Given the description of an element on the screen output the (x, y) to click on. 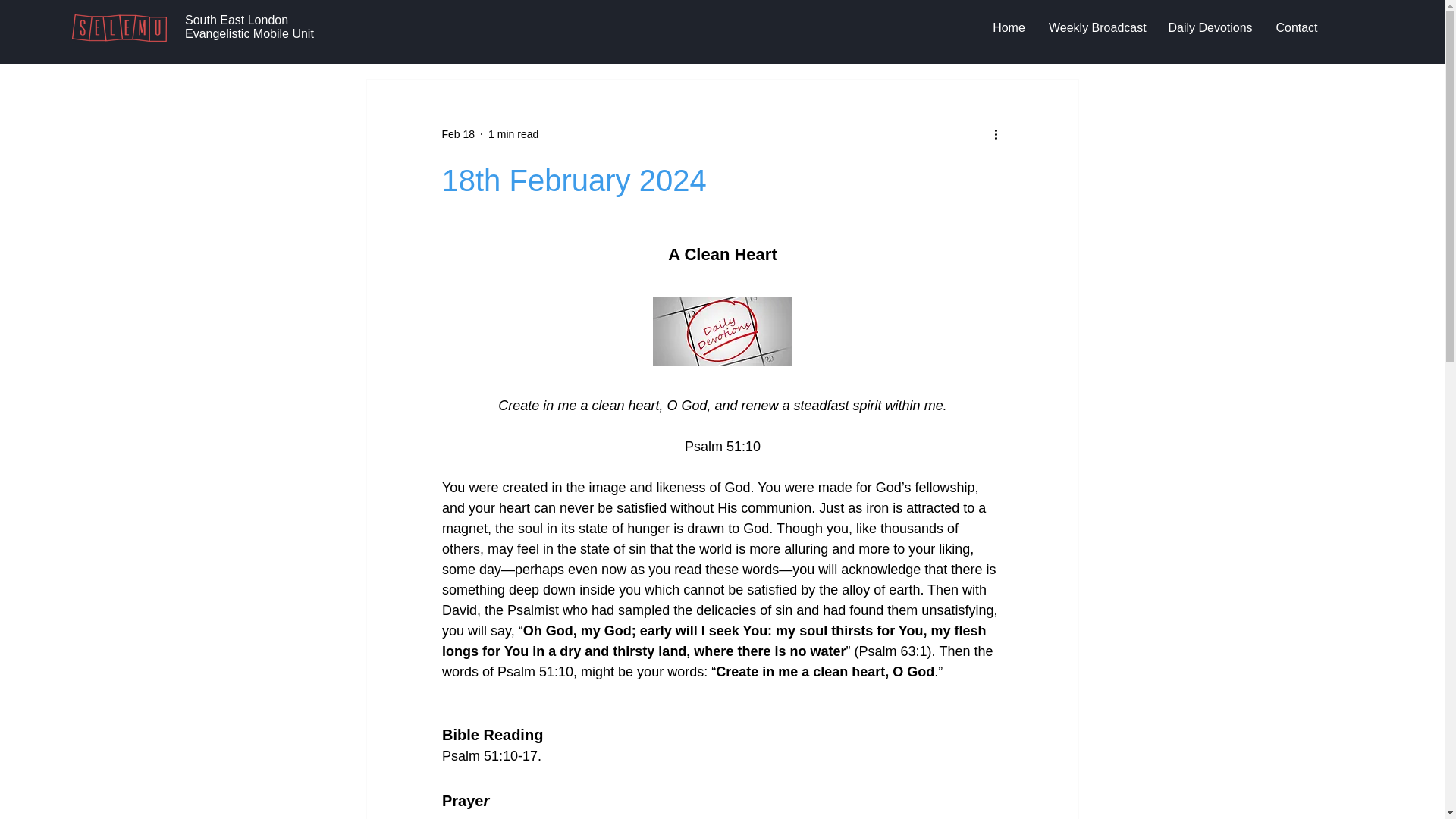
Weekly Broadcast (1096, 27)
Daily Devotions (1209, 27)
Home (1007, 27)
1 min read (512, 133)
South East London (236, 19)
Evangelistic Mobile Unit (249, 33)
Contact (1296, 27)
Feb 18 (457, 133)
